Given the description of an element on the screen output the (x, y) to click on. 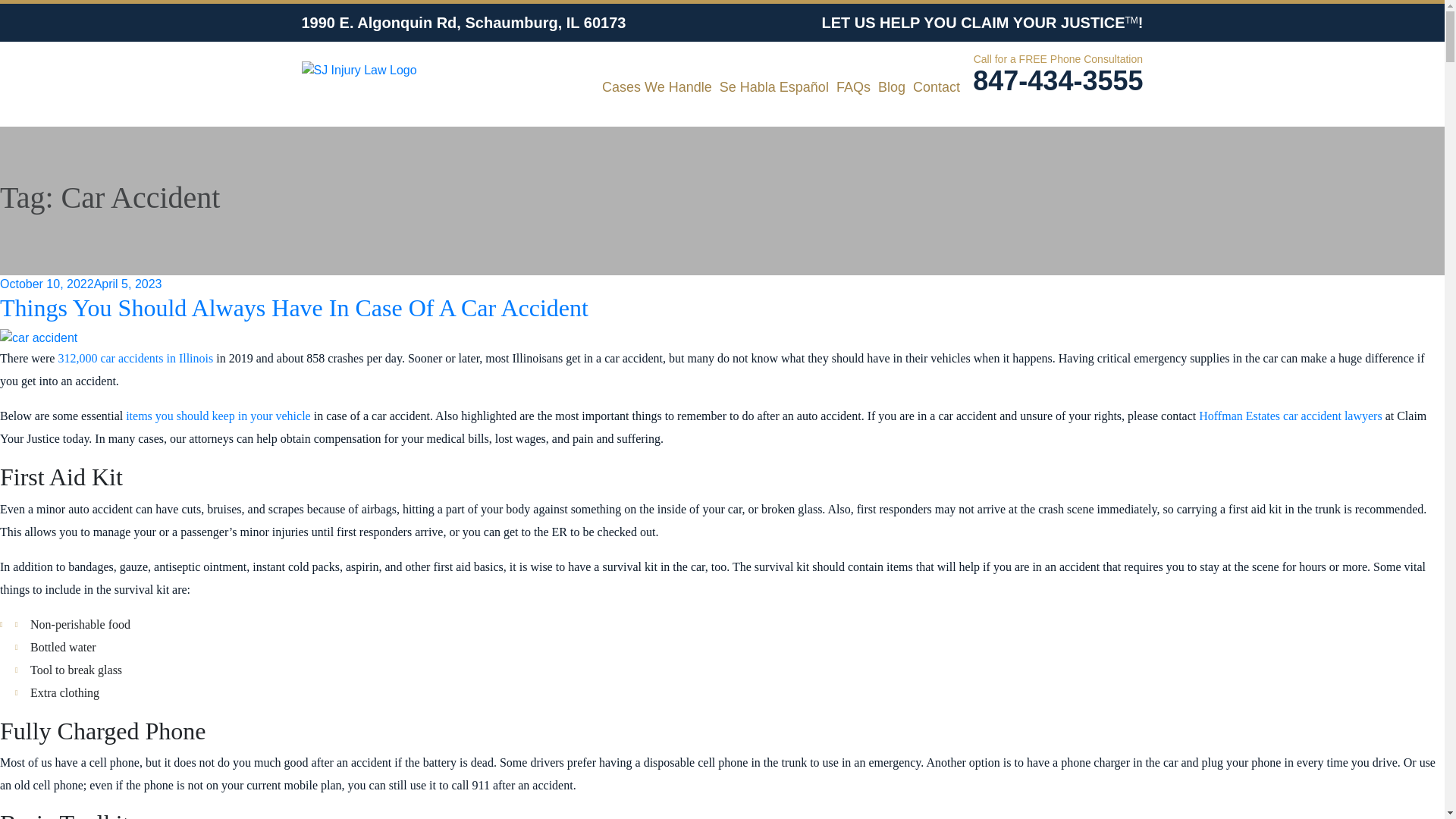
Contact (935, 87)
FAQs (852, 87)
Cases We Handle (656, 87)
October 10, 2022April 5, 2023 (80, 283)
Blog (891, 87)
847-434-3555 (1057, 81)
Things You Should Always Have In Case Of A Car Accident (294, 307)
